Given the description of an element on the screen output the (x, y) to click on. 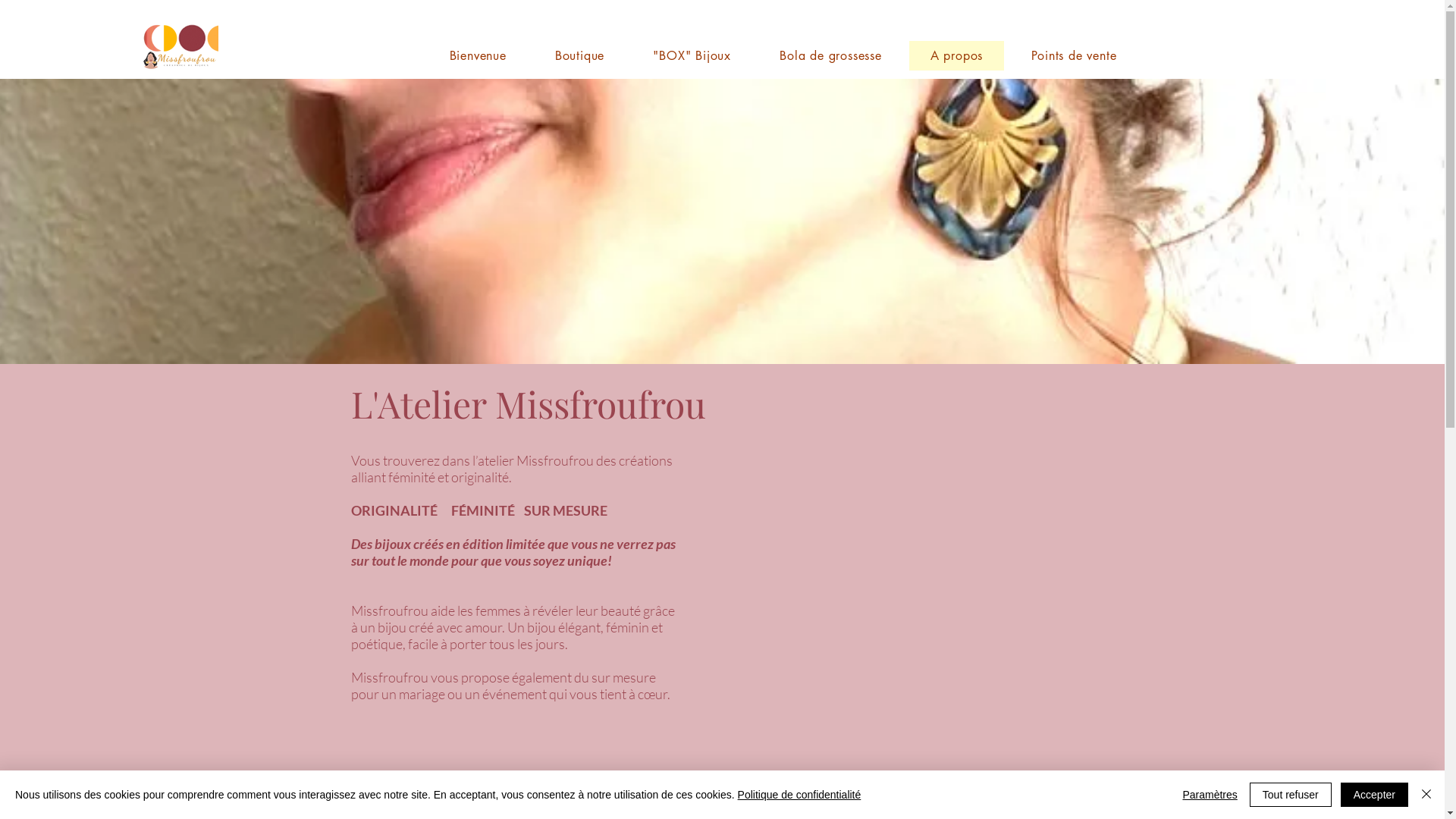
Bola de grossesse Element type: text (830, 55)
Bienvenue Element type: text (477, 55)
Tout refuser Element type: text (1290, 794)
"BOX" Bijoux Element type: text (691, 55)
Boutique Element type: text (579, 55)
Points de vente Element type: text (1073, 55)
Accepter Element type: text (1374, 794)
A propos Element type: text (956, 55)
